Given the description of an element on the screen output the (x, y) to click on. 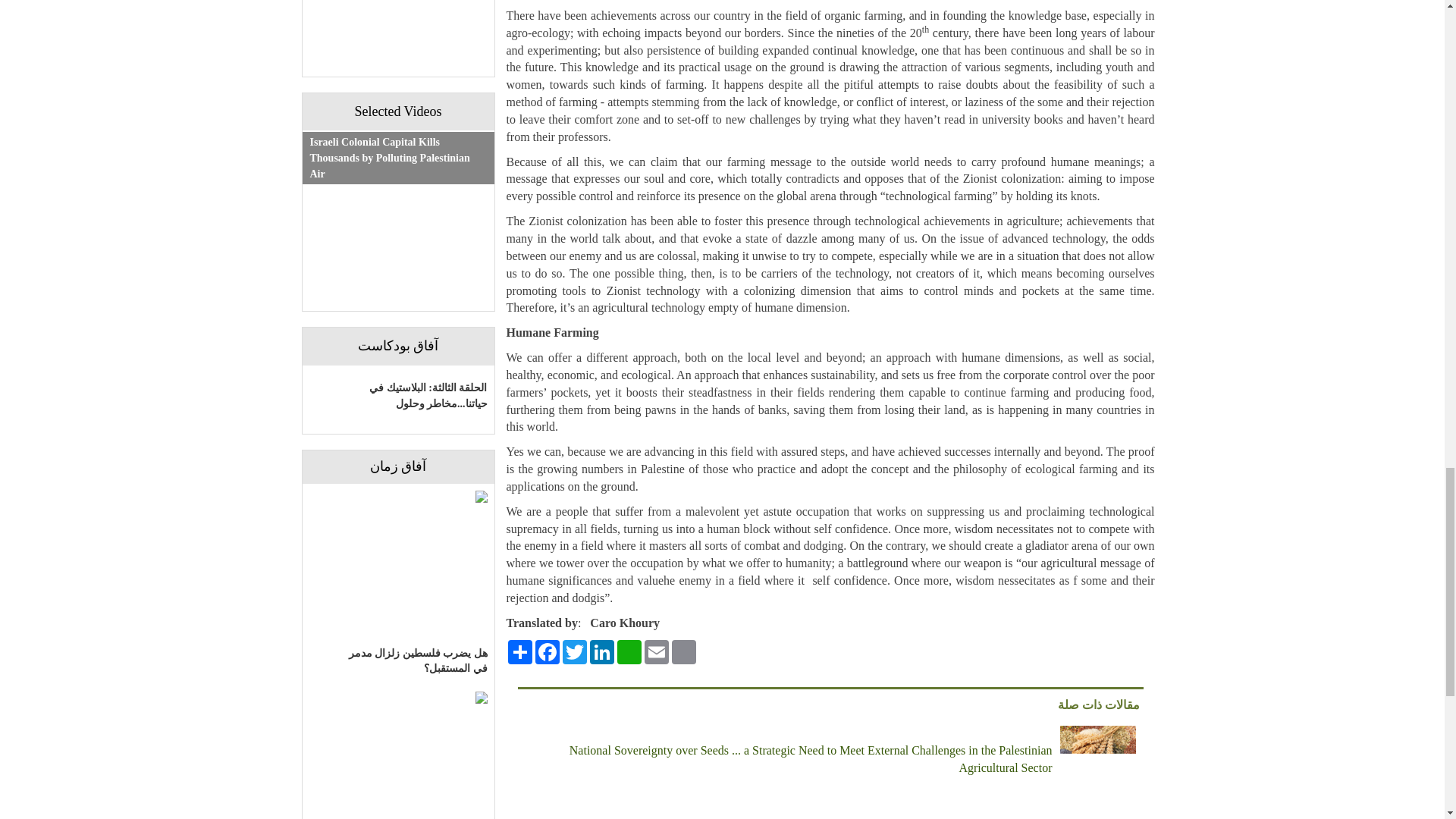
YouTube video player (397, 38)
